Given the description of an element on the screen output the (x, y) to click on. 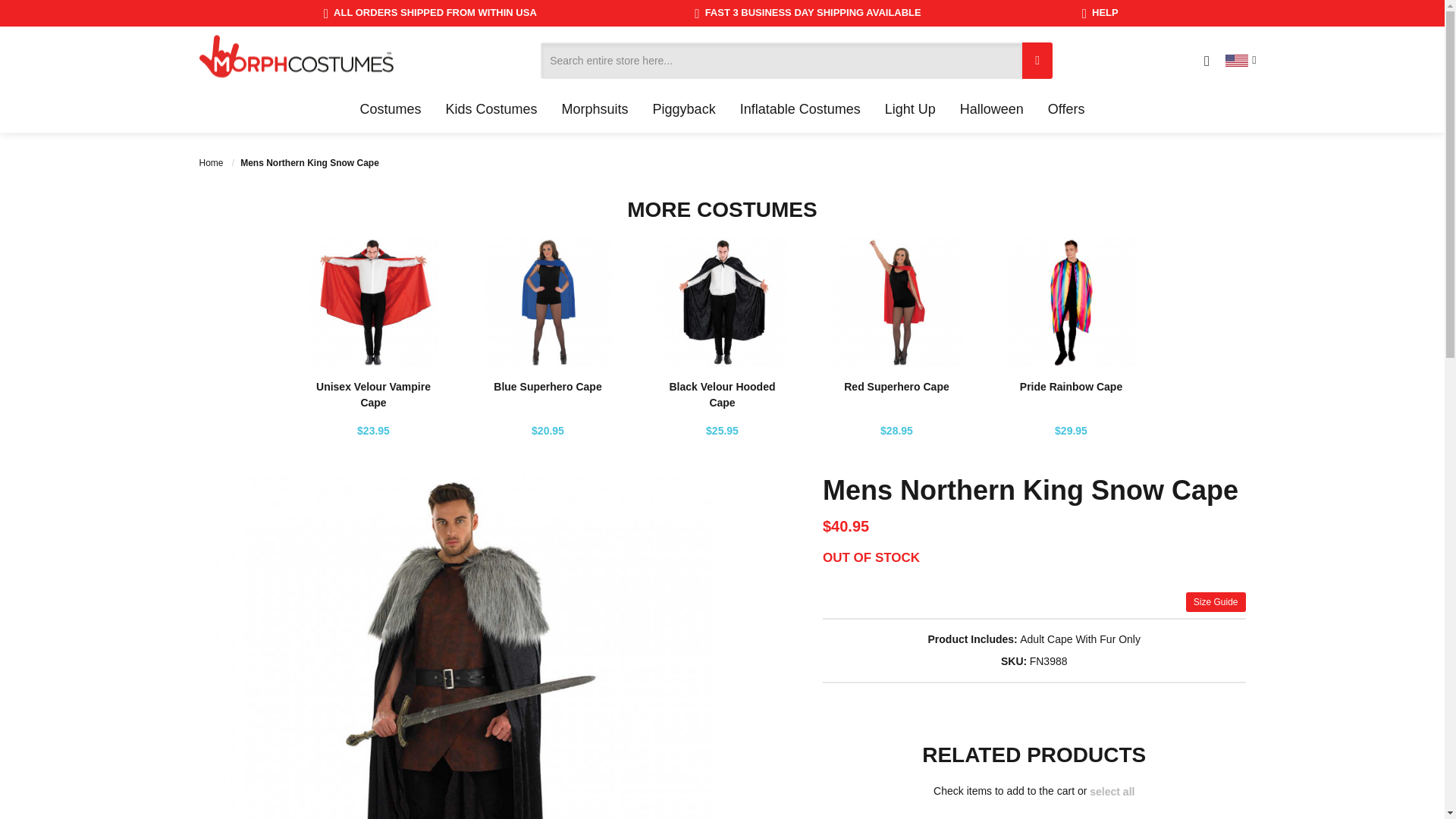
Red Superhero Cape (896, 386)
HELP (1099, 13)
Costumes (389, 109)
Pride Rainbow Cape (1071, 386)
Unisex Velour Vampire Cape (372, 394)
Size Guide Funshack Womens Size Guide (1216, 601)
Availability (871, 557)
Blue Superhero Cape (547, 386)
Go to Home Page (211, 163)
Black Velour Hooded Cape (721, 394)
